Given the description of an element on the screen output the (x, y) to click on. 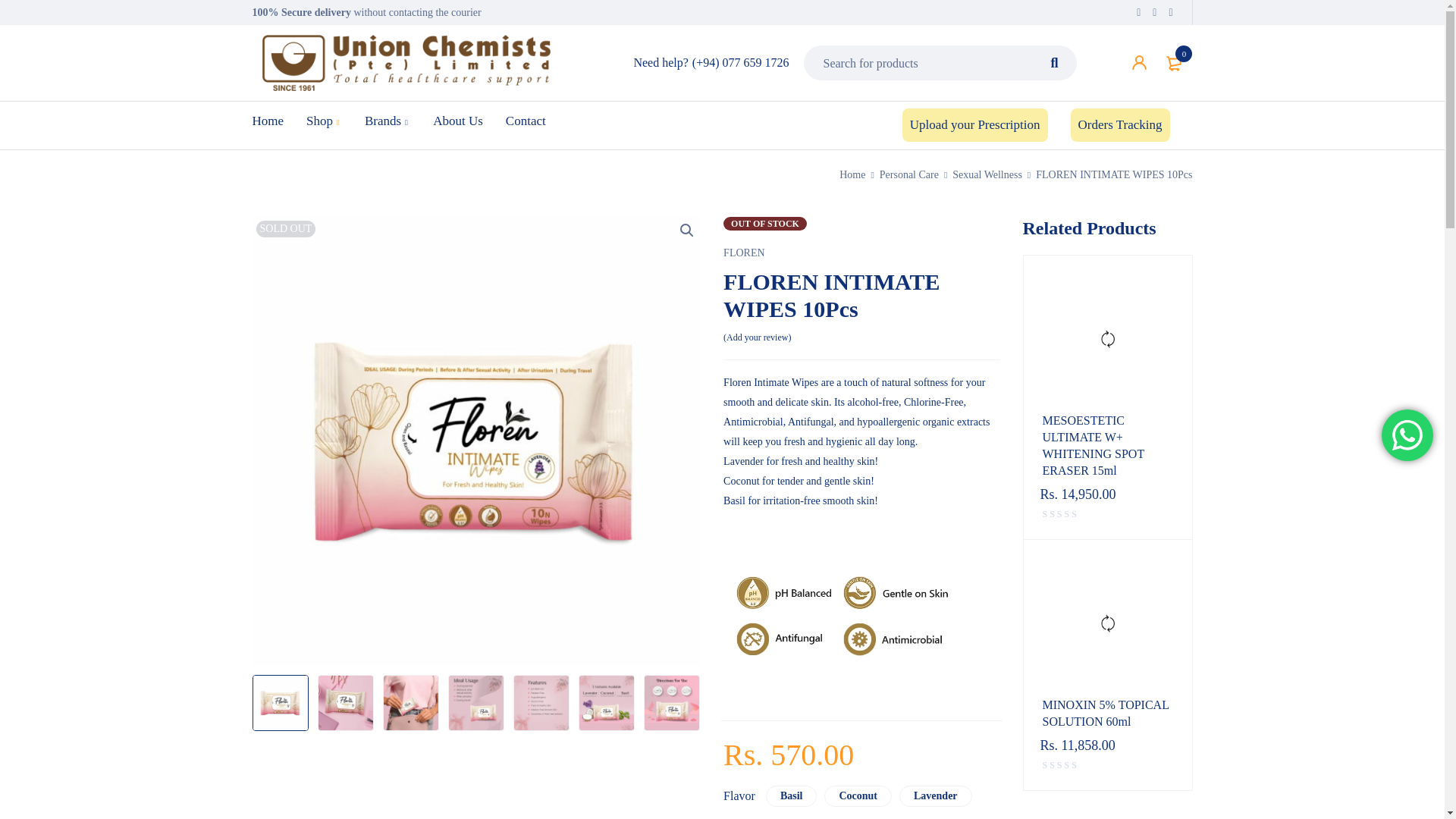
View your shopping cart (1174, 62)
Search (1053, 62)
Union Chemists (406, 62)
